Given the description of an element on the screen output the (x, y) to click on. 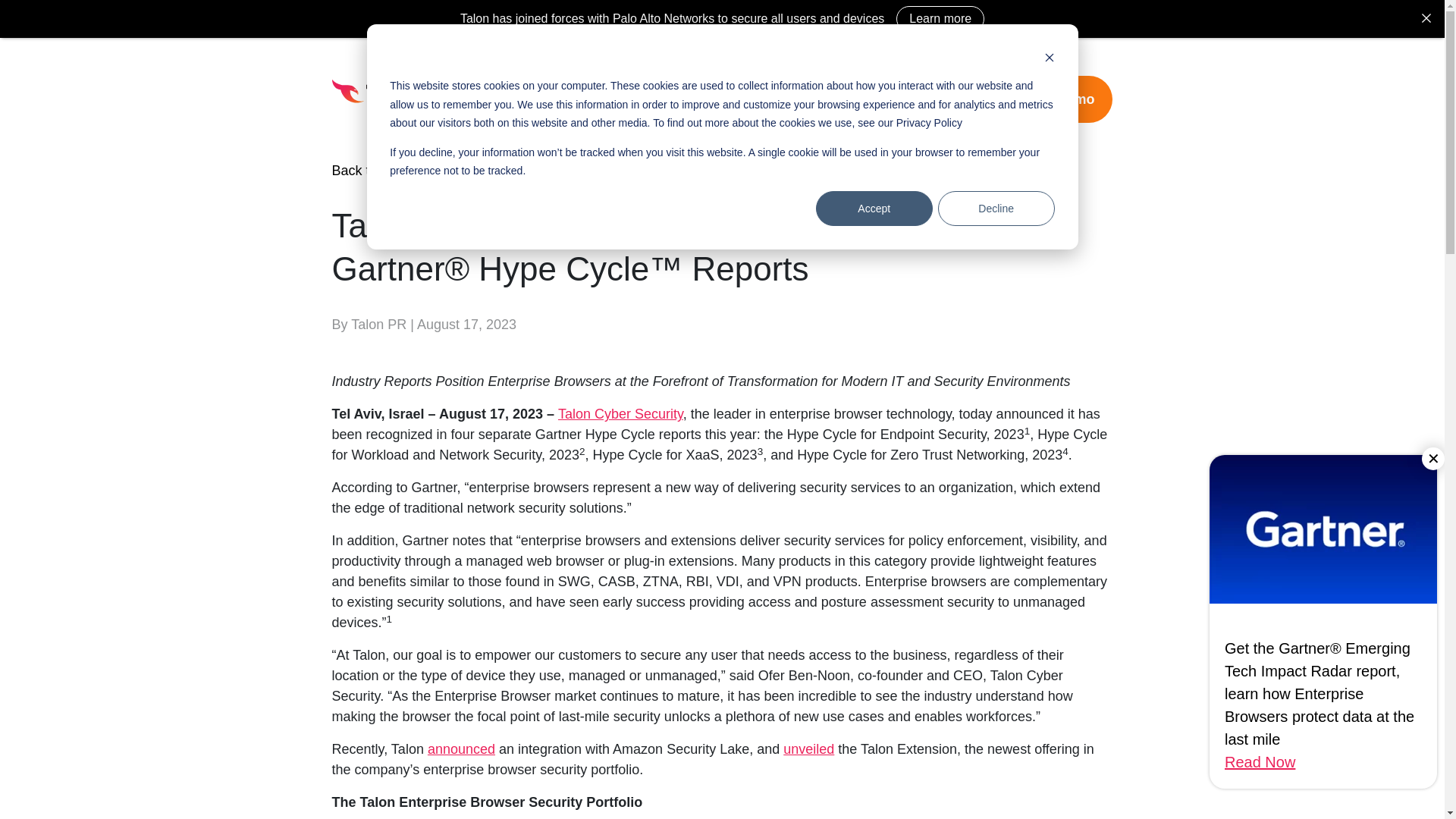
Close (1425, 17)
unveiled (808, 749)
Book a demo (1051, 99)
Company (888, 99)
Back to Blog (370, 170)
Talon Cyber Security (619, 413)
announced (461, 749)
Product (564, 99)
Customers (737, 99)
Solutions (645, 99)
